Given the description of an element on the screen output the (x, y) to click on. 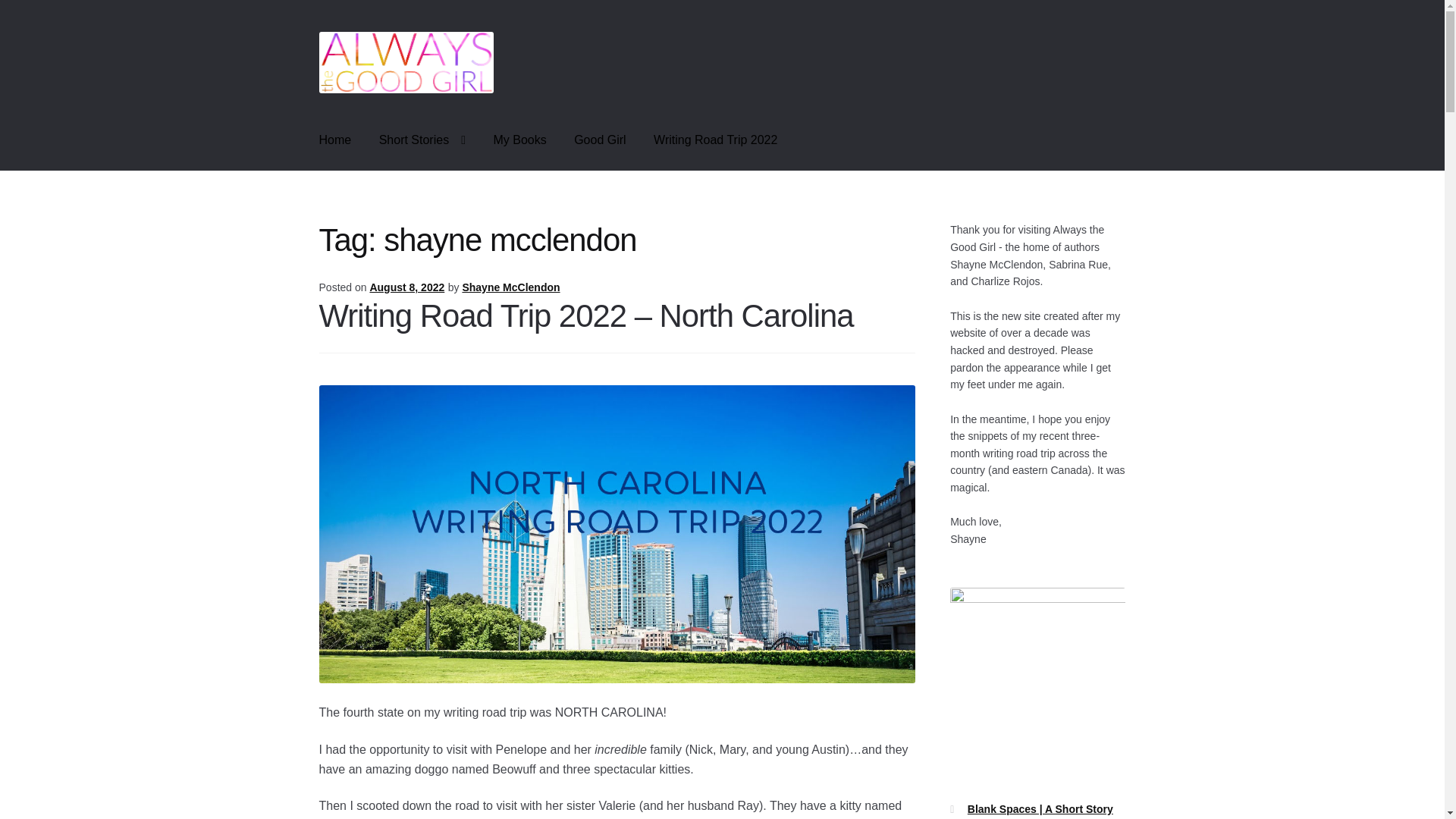
Writing Road Trip 2022 (715, 139)
Shayne McClendon (510, 287)
Home (335, 139)
August 8, 2022 (406, 287)
Short Stories (421, 139)
My Books (518, 139)
Good Girl (599, 139)
